Given the description of an element on the screen output the (x, y) to click on. 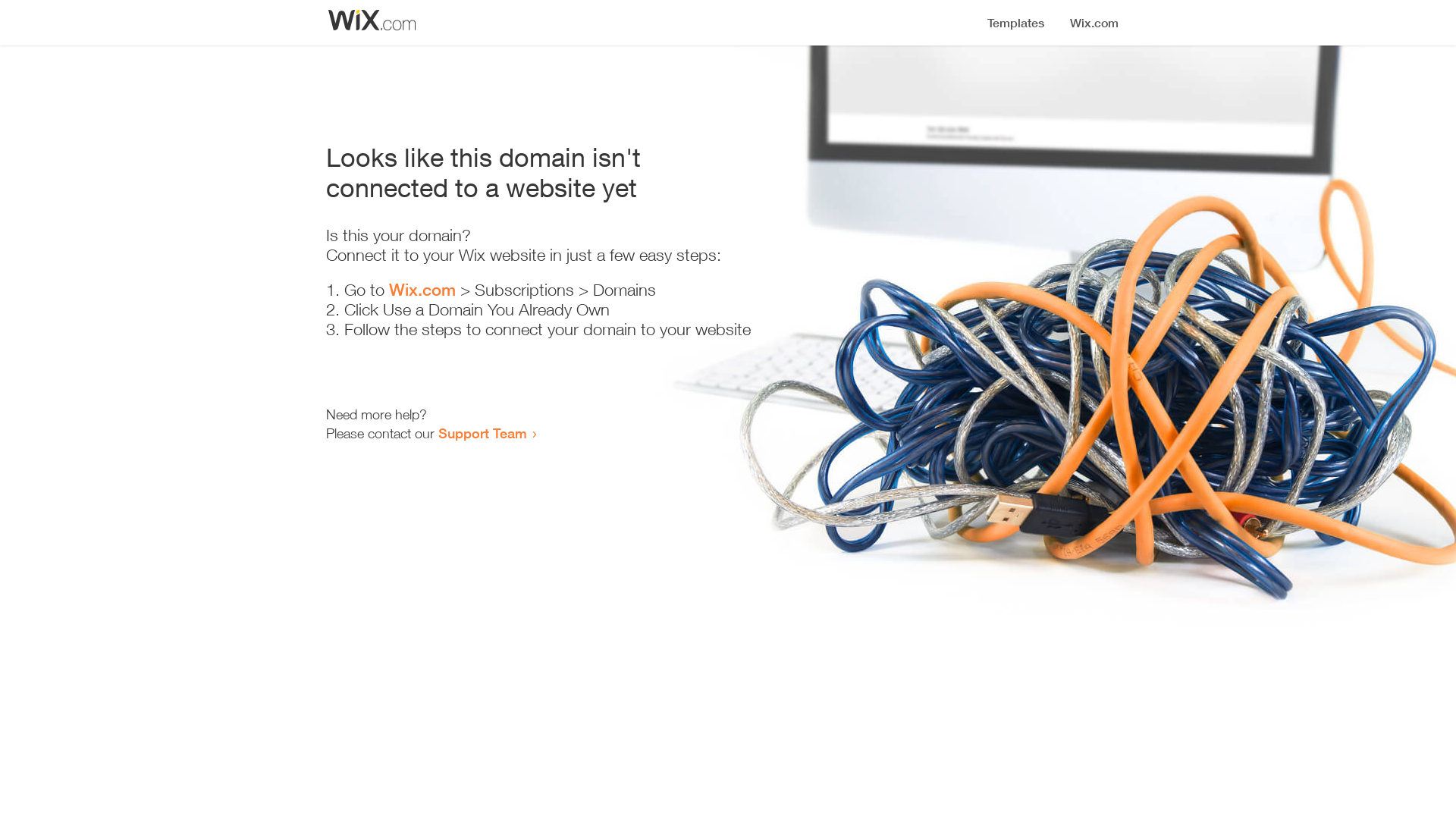
Support Team Element type: text (482, 432)
Wix.com Element type: text (422, 289)
